Given the description of an element on the screen output the (x, y) to click on. 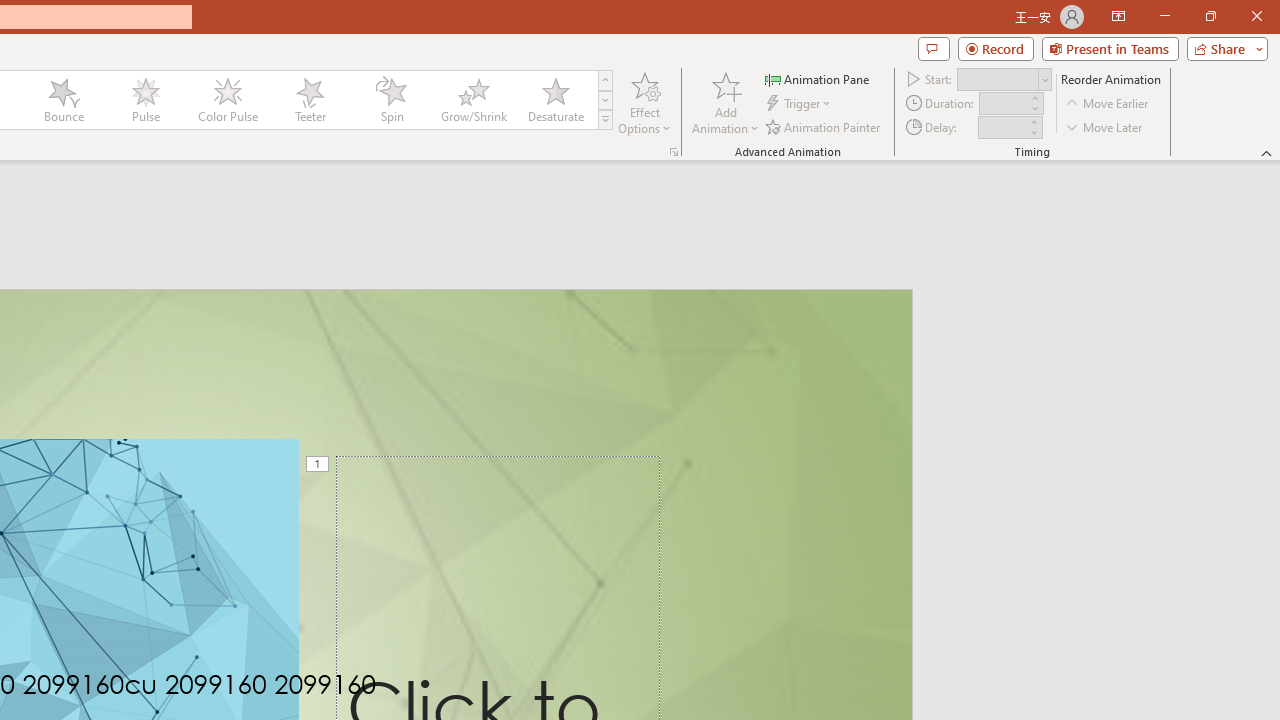
Trigger (799, 103)
Spin (391, 100)
Desaturate (555, 100)
Pulse (145, 100)
